Given the description of an element on the screen output the (x, y) to click on. 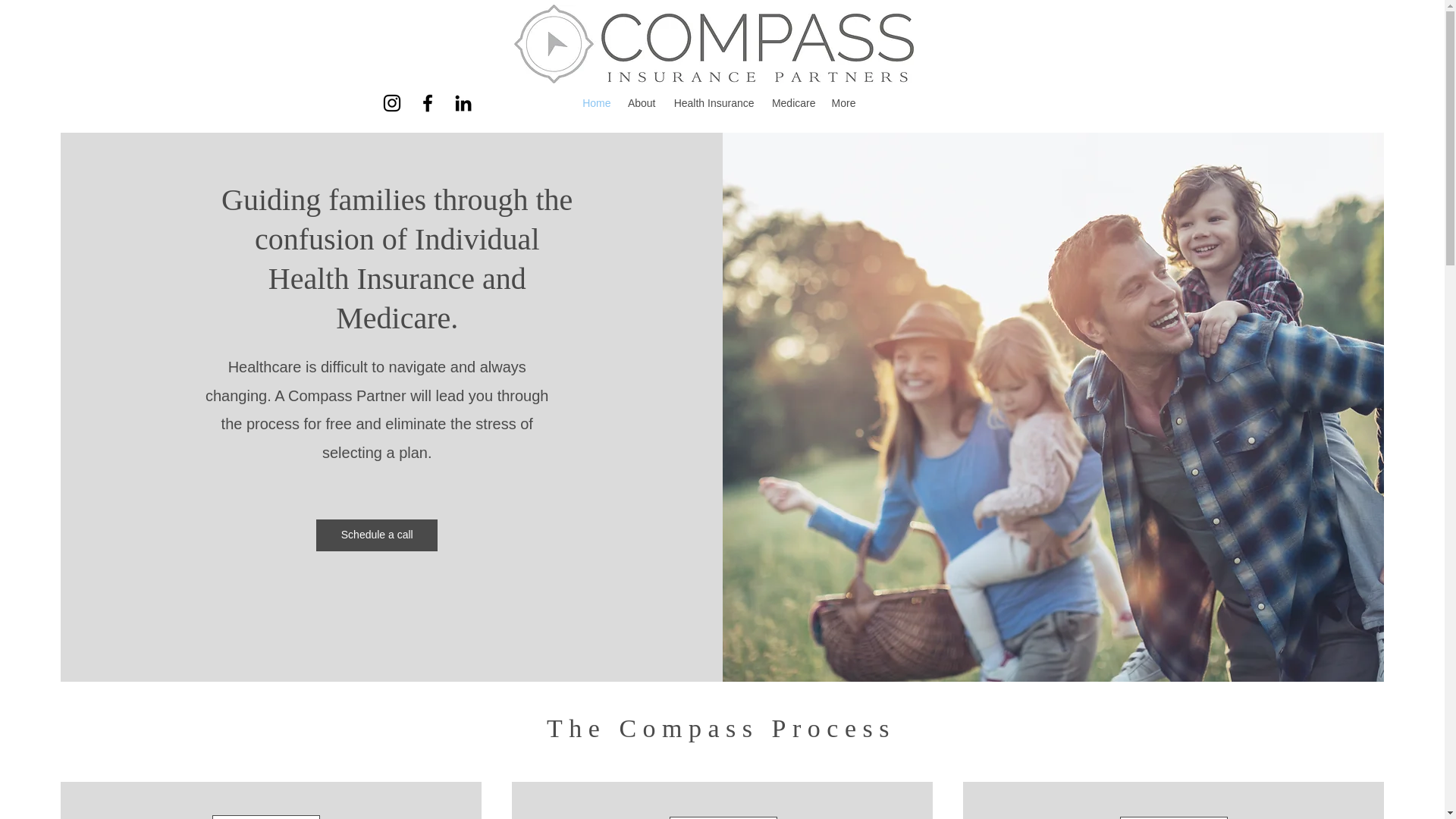
About (640, 102)
Medicare (791, 102)
Compass Insurance Partners Logo HORIZONT (713, 43)
Home (595, 102)
2. Get Quotes (722, 817)
Health Insurance (711, 102)
Schedule a call (376, 535)
3. Enroll (1173, 817)
1. Connect (266, 816)
